Given the description of an element on the screen output the (x, y) to click on. 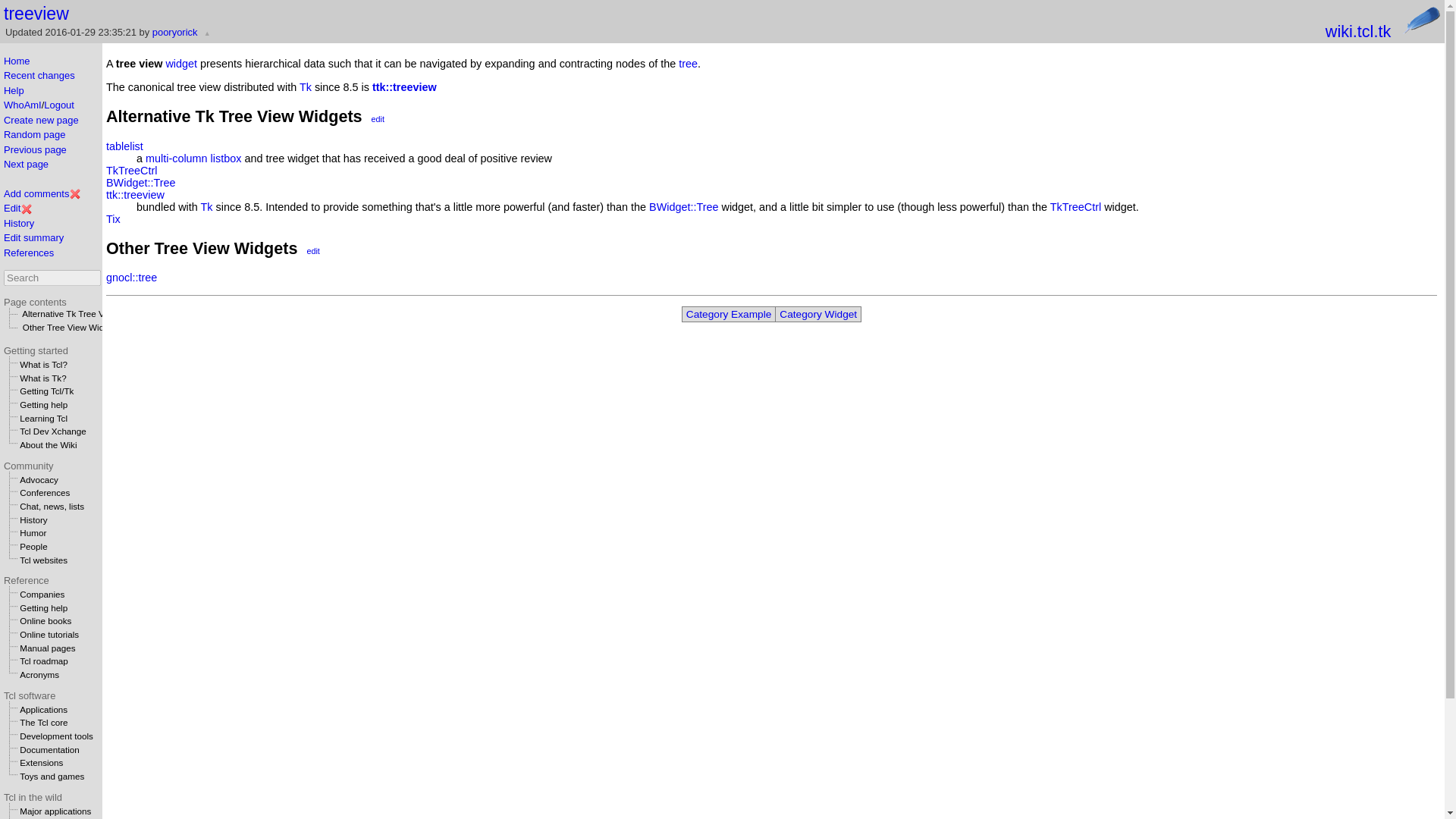
Recent changes (39, 75)
edit (377, 118)
multi-column (176, 158)
Home (17, 60)
edit (311, 250)
Help (14, 90)
BWidget::Tree (683, 206)
 Other Tree View Widgets  (71, 327)
Tk (305, 87)
WhoAmI (23, 104)
